Given the description of an element on the screen output the (x, y) to click on. 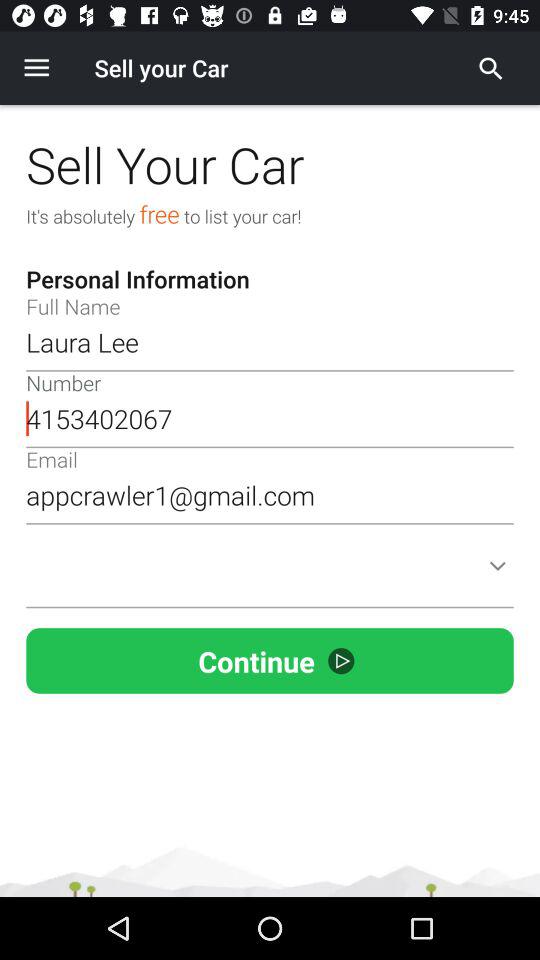
find label (491, 68)
